Given the description of an element on the screen output the (x, y) to click on. 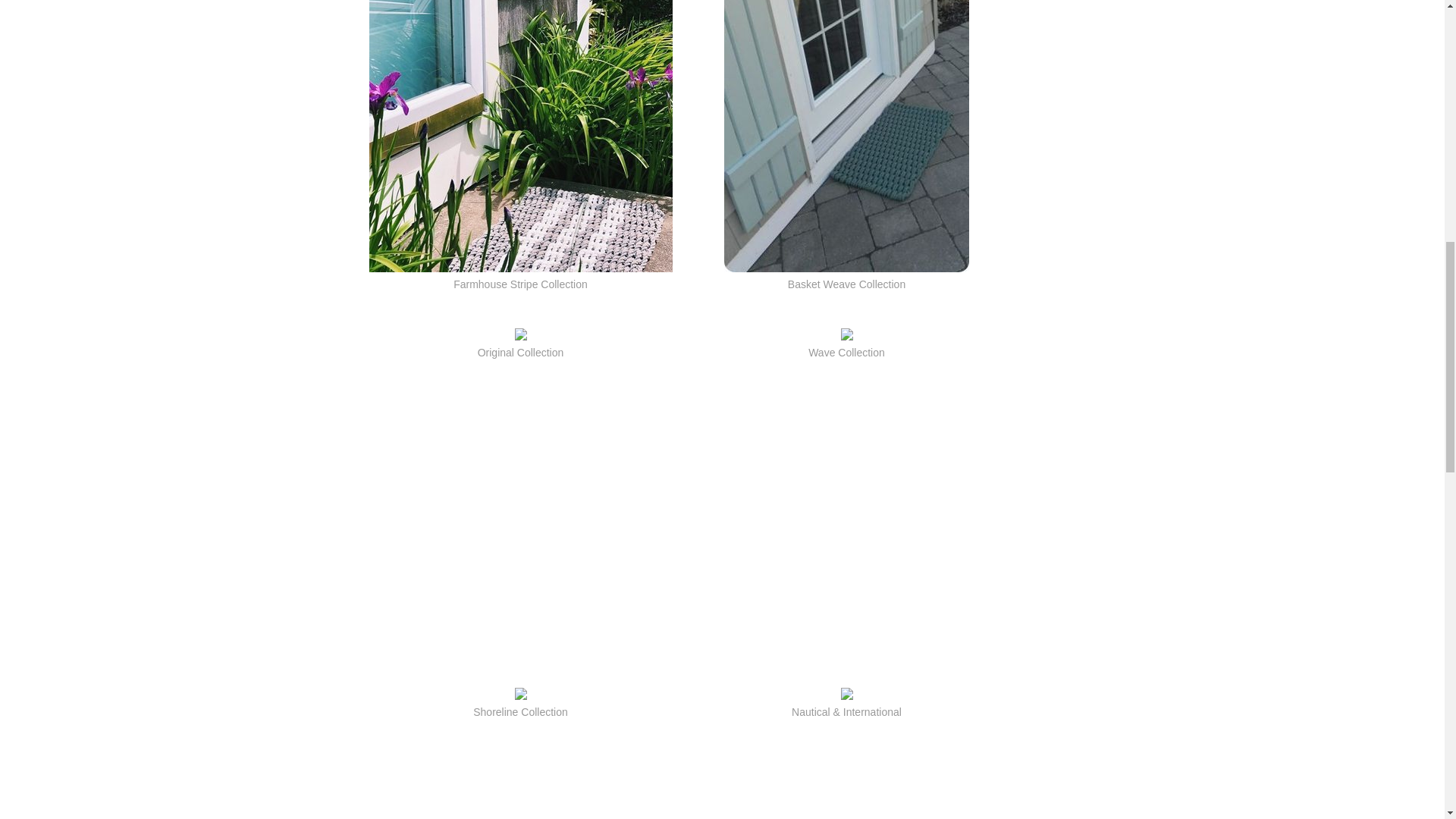
Basket Weave Collection (846, 284)
Farmhouse Stripe Collection (520, 284)
